Given the description of an element on the screen output the (x, y) to click on. 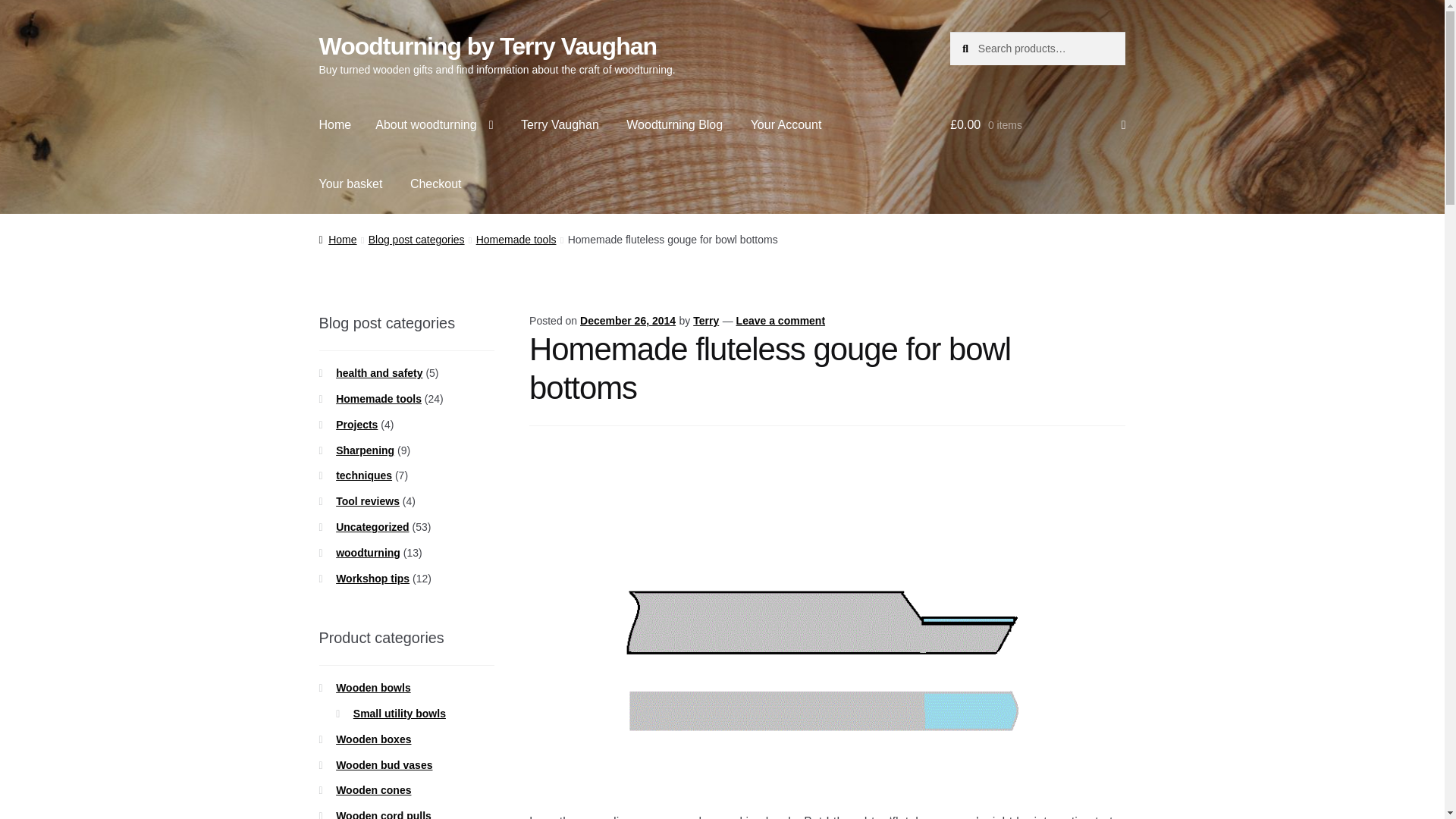
Homemade tools (516, 239)
Terry Vaughan (559, 124)
Home (335, 124)
About woodturning (433, 124)
Woodturning Blog (674, 124)
Terry (706, 320)
Woodturning by Terry Vaughan (488, 45)
Leave a comment (780, 320)
Checkout (435, 183)
Blog post categories (416, 239)
December 26, 2014 (627, 320)
Your basket (350, 183)
Your Account (786, 124)
View your shopping basket (1037, 124)
